Given the description of an element on the screen output the (x, y) to click on. 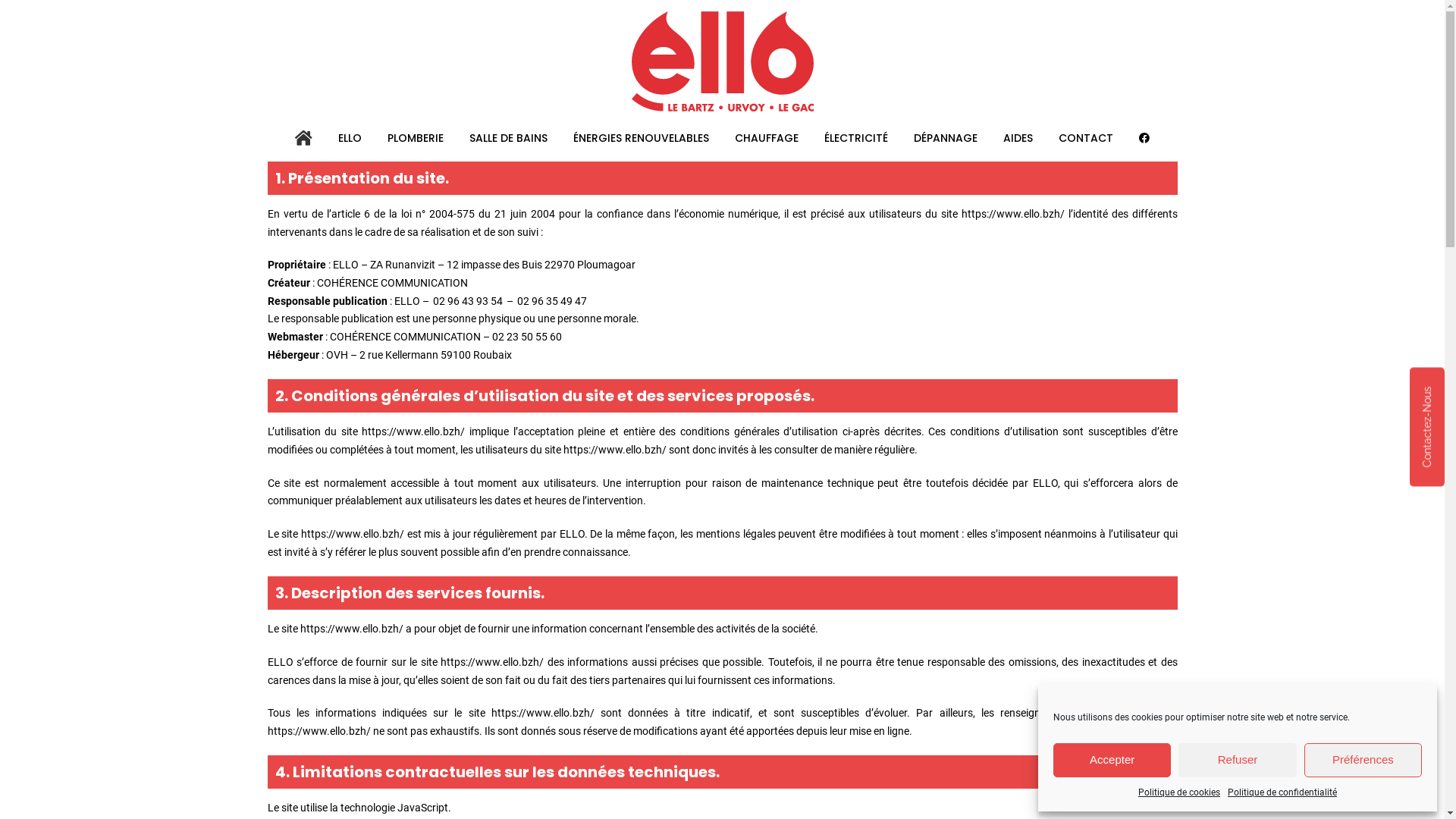
https://www.ello.bzh/ Element type: text (412, 431)
https://www.ello.bzh/ Element type: text (491, 661)
https://www.ello.bzh/ Element type: text (613, 449)
02 96 35 49 47 Element type: text (551, 301)
CONTACT Element type: text (1085, 137)
https://www.ello.bzh/ Element type: text (352, 533)
Accepter Element type: text (1111, 760)
02 96 43 93 54 Element type: text (467, 301)
https://www.ello.bzh/ Element type: text (1012, 213)
Politique de cookies Element type: text (1179, 792)
https://www.ello.bzh/ Element type: text (542, 712)
https://www.ello.bzh/ Element type: text (351, 628)
PLOMBERIE Element type: text (415, 137)
AIDES Element type: text (1017, 137)
https://www.ello.bzh/ Element type: text (318, 730)
Refuser Element type: text (1236, 760)
ELLO Element type: text (349, 137)
CHAUFFAGE Element type: text (766, 137)
SALLE DE BAINS Element type: text (508, 137)
